Given the description of an element on the screen output the (x, y) to click on. 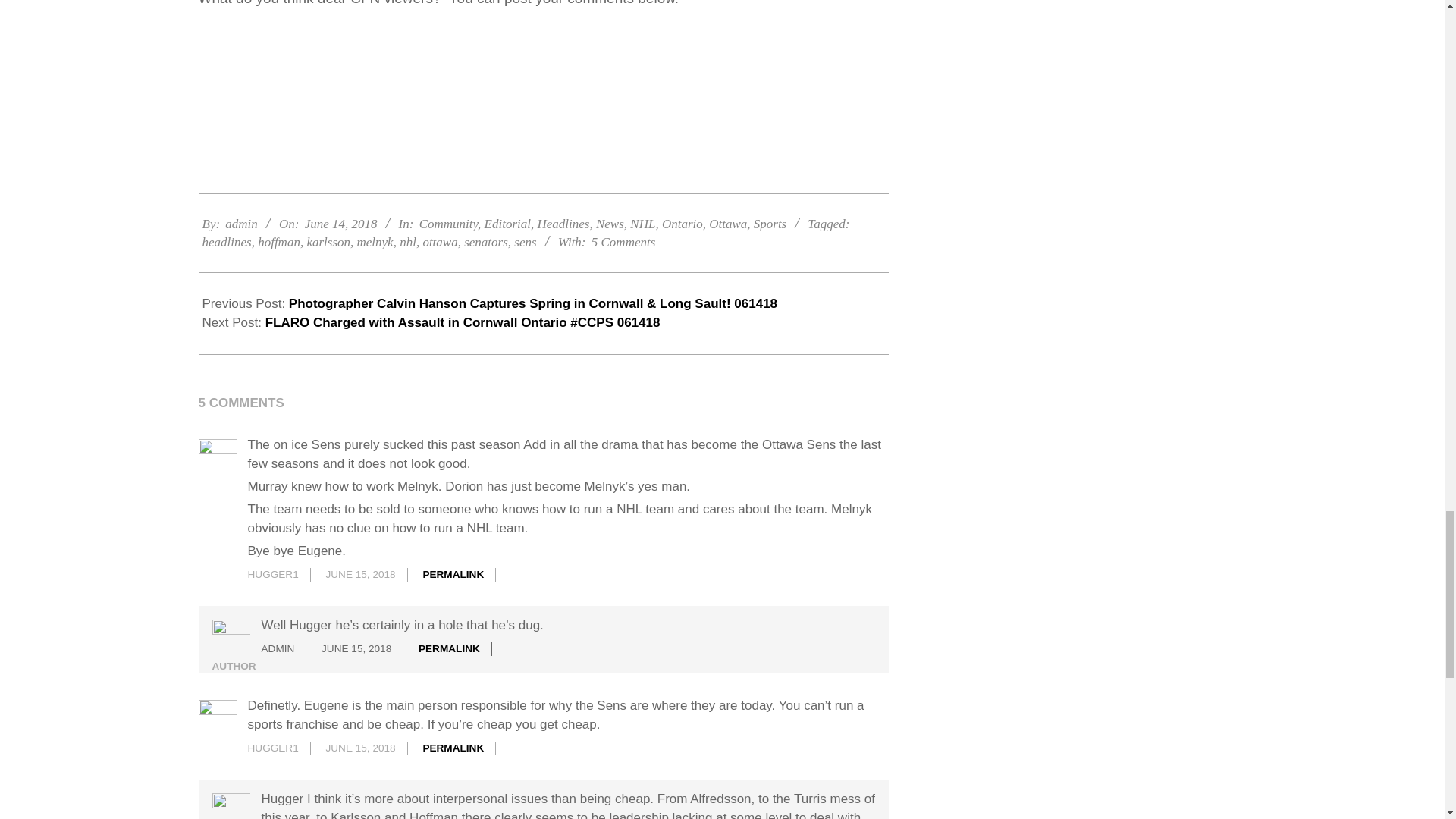
Friday, June 15, 2018, 9:33 am (359, 573)
Posts by admin (241, 223)
Friday, June 15, 2018, 2:49 pm (359, 747)
Friday, June 15, 2018, 9:38 am (356, 648)
Thursday, June 14, 2018, 12:40 pm (340, 223)
